Given the description of an element on the screen output the (x, y) to click on. 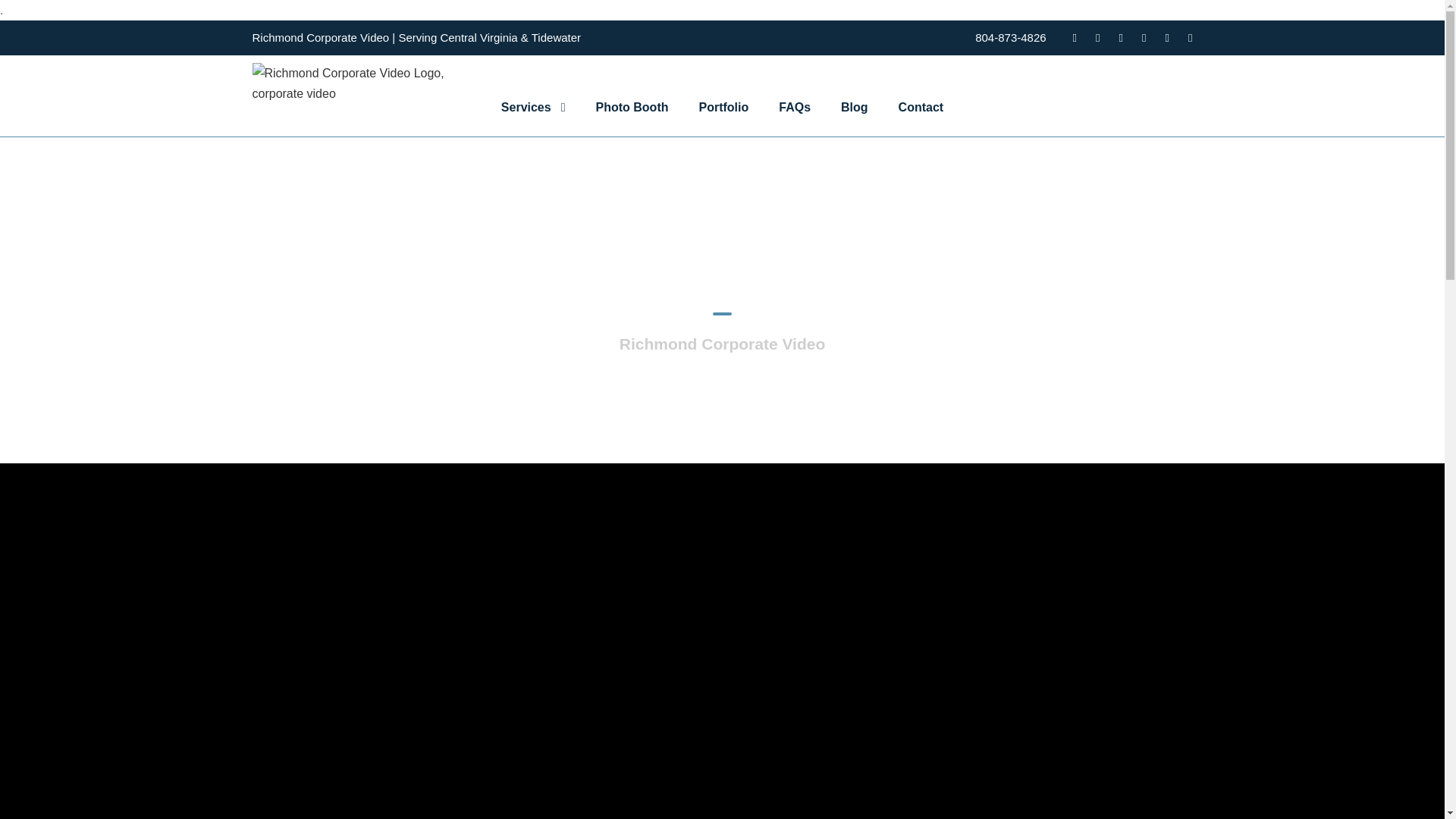
804-873-4826 (1010, 37)
logo, corporate video (357, 83)
Services (533, 116)
